Given the description of an element on the screen output the (x, y) to click on. 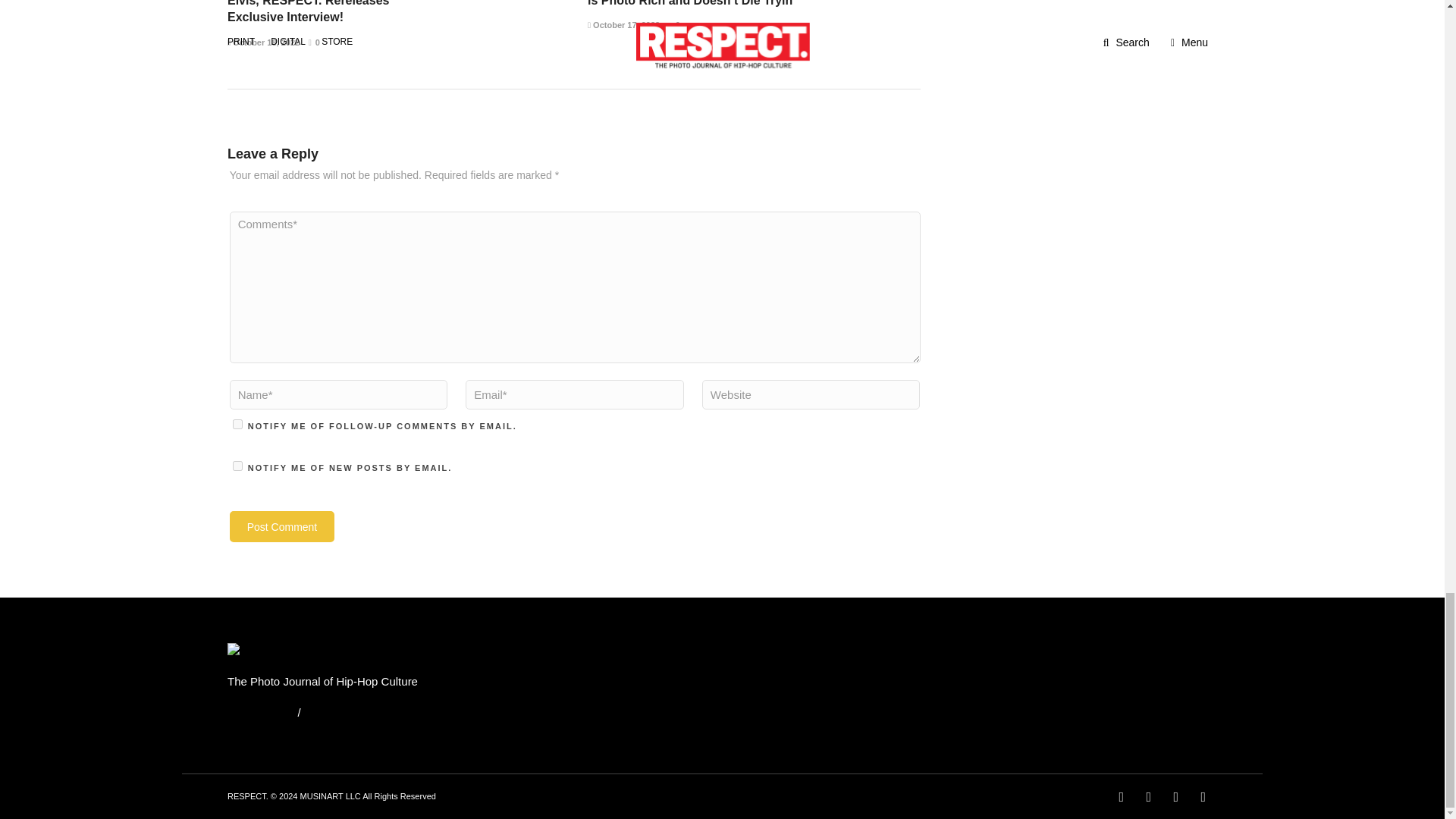
subscribe (237, 465)
subscribe (237, 424)
Post Comment (282, 526)
